Given the description of an element on the screen output the (x, y) to click on. 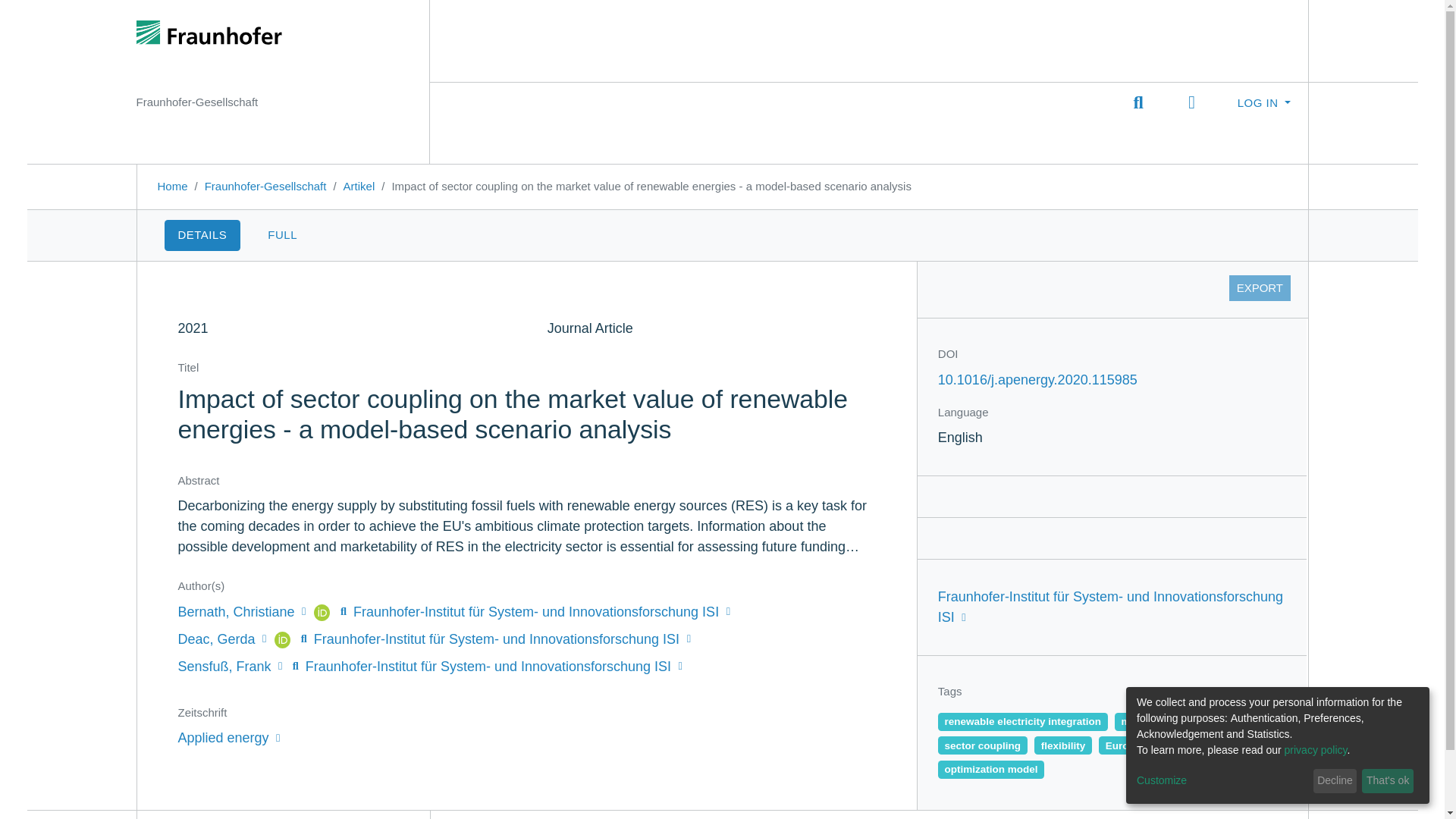
renewable electricity integration (1022, 721)
optimization model (991, 769)
Customize (1222, 780)
Applied energy (228, 737)
FULL (282, 235)
LOG IN (1263, 102)
Bernath, Christiane (242, 611)
EXPORT (1259, 288)
DETAILS (201, 235)
Language switch (1191, 102)
privacy policy (1316, 749)
Full (282, 235)
Search (1138, 102)
sector coupling (982, 745)
Decline (1334, 781)
